Given the description of an element on the screen output the (x, y) to click on. 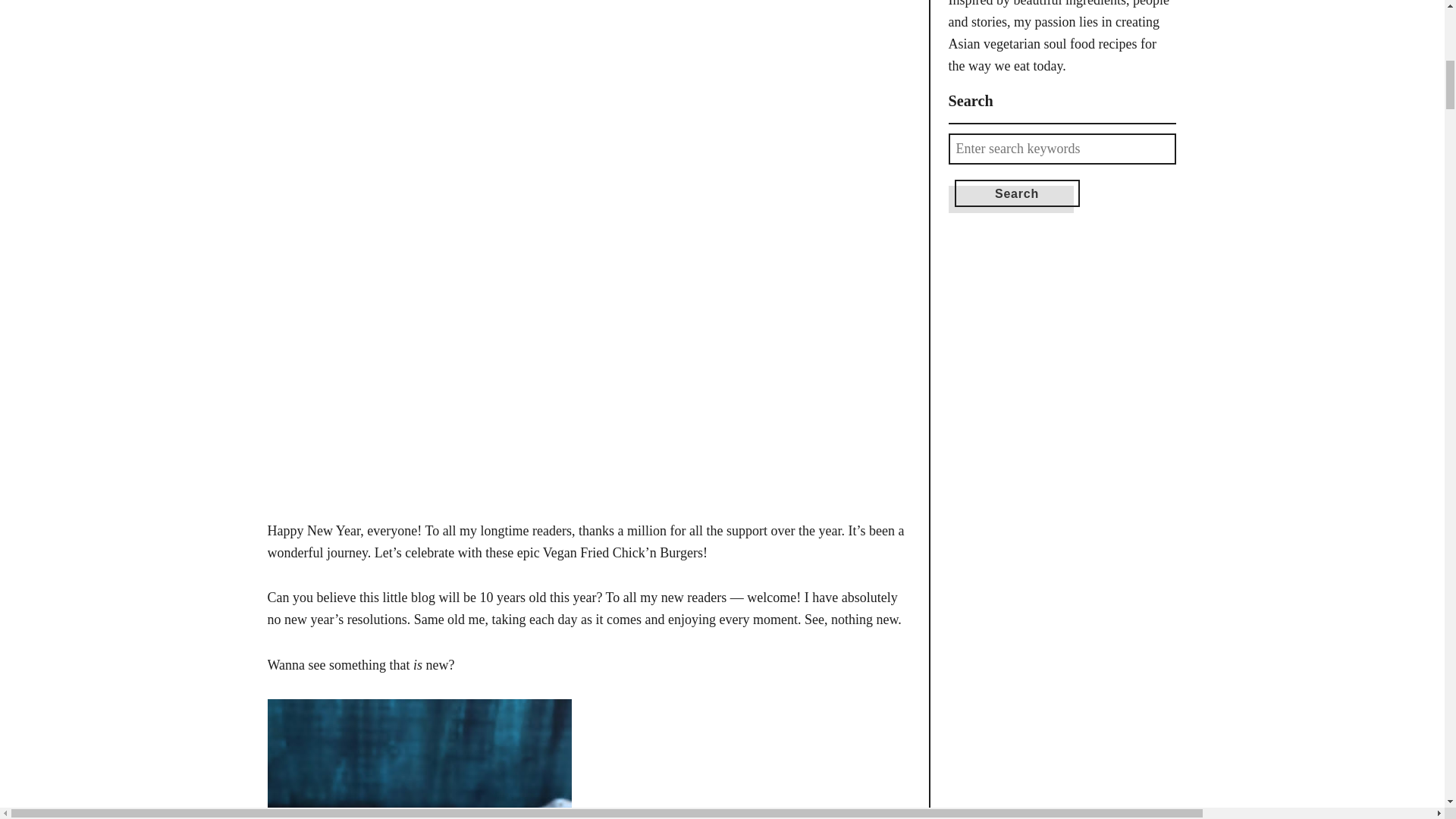
Search (1015, 193)
Search (1015, 193)
Search for: (1060, 148)
